Given the description of an element on the screen output the (x, y) to click on. 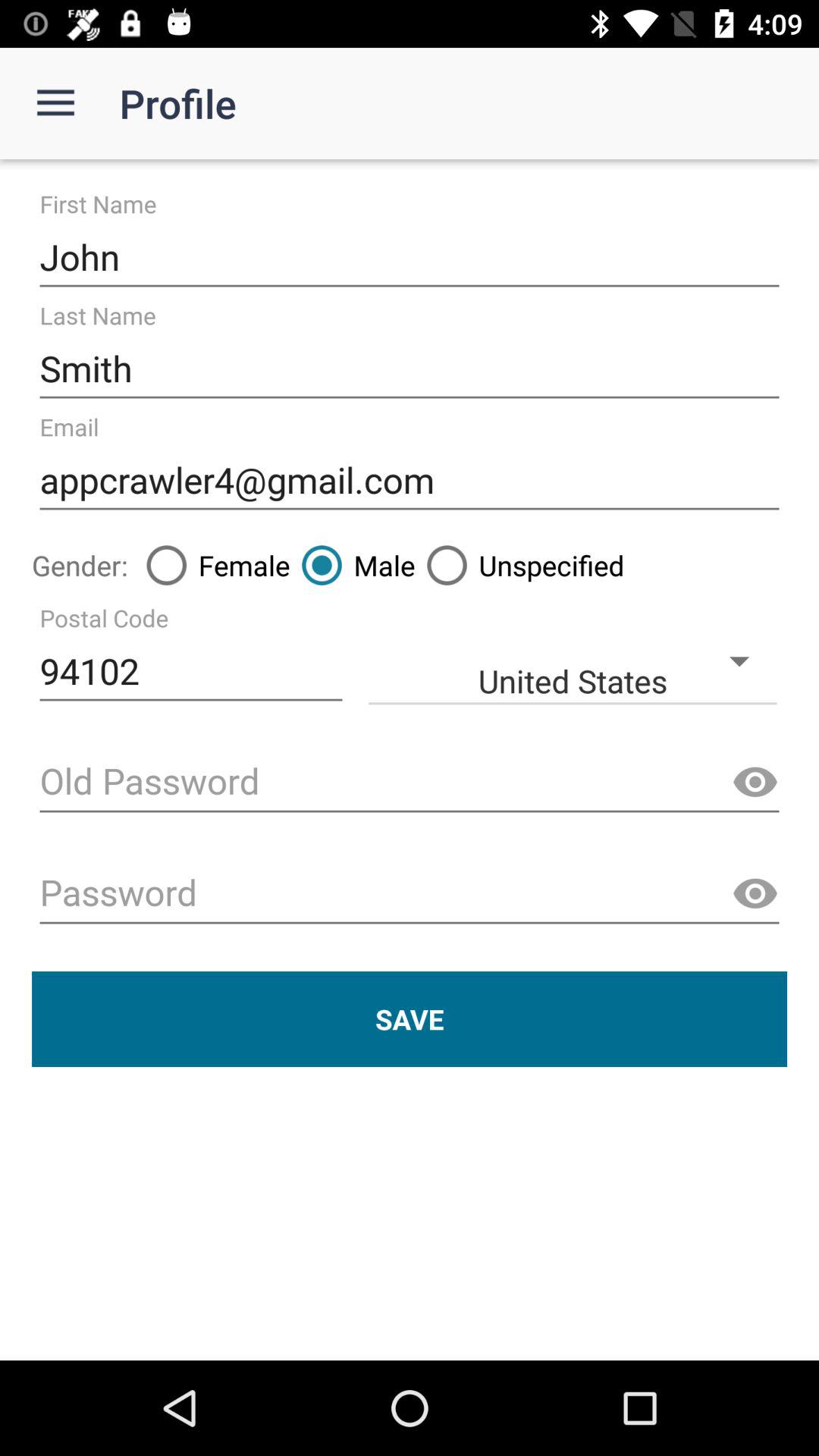
toggle password visibility (755, 782)
